Given the description of an element on the screen output the (x, y) to click on. 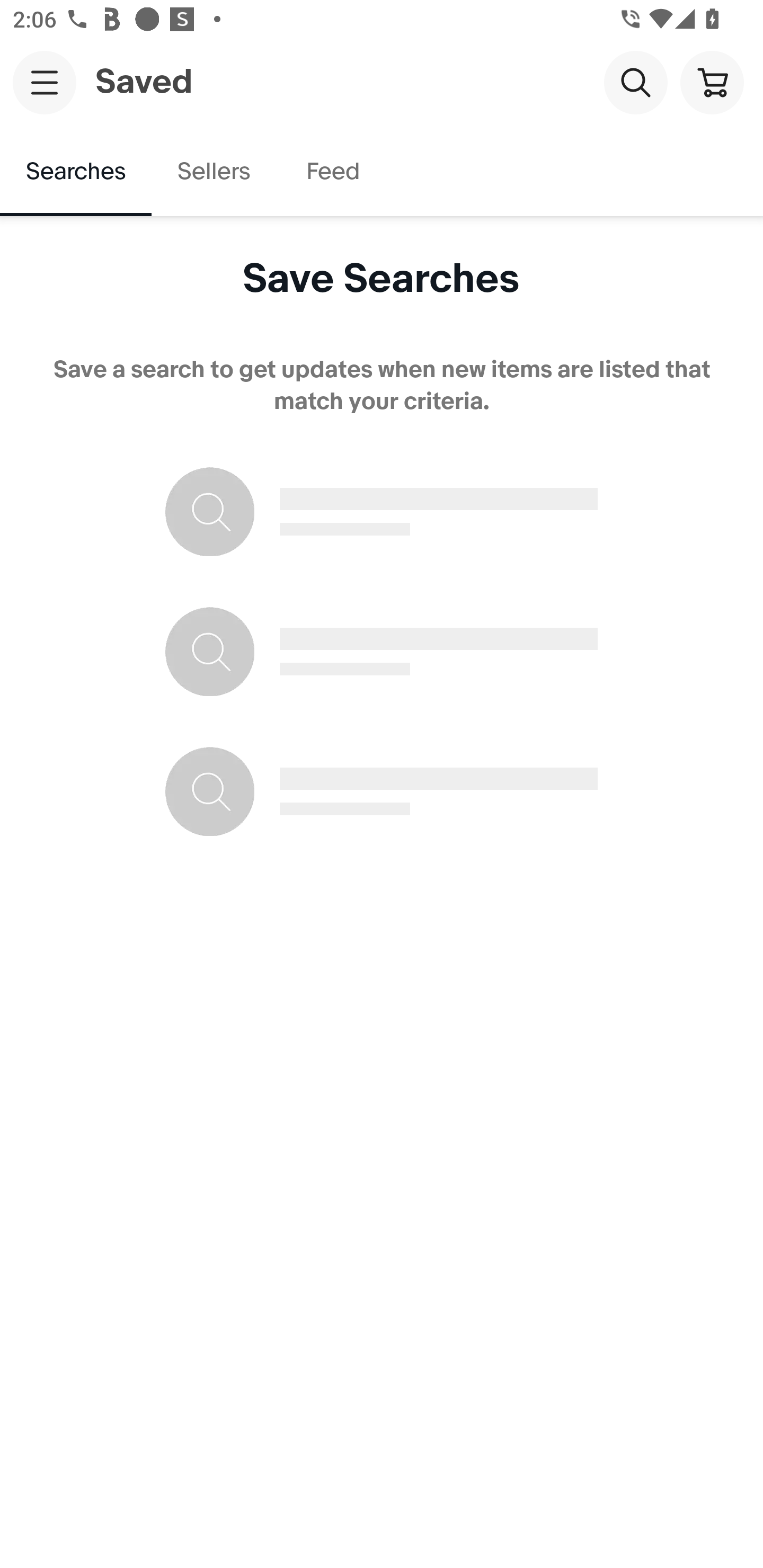
Main navigation, open (44, 82)
Search (635, 81)
Cart button shopping cart (711, 81)
Sellers (213, 171)
Feed (332, 171)
